Given the description of an element on the screen output the (x, y) to click on. 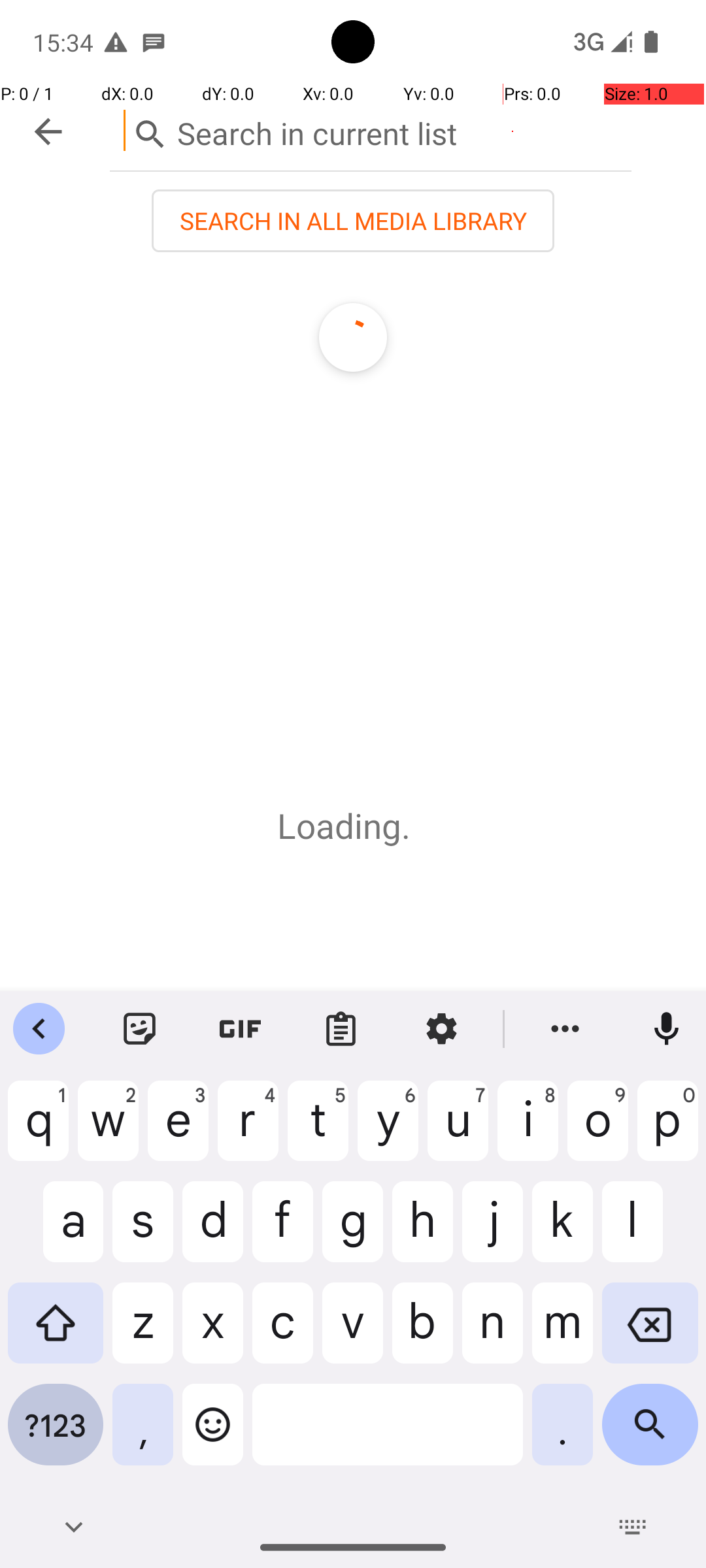
SEARCH IN ALL MEDIA LIBRARY Element type: android.widget.Button (352, 220)
Loading Element type: android.widget.TextView (339, 825)
   Search in current list Element type: android.widget.AutoCompleteTextView (370, 130)
